Given the description of an element on the screen output the (x, y) to click on. 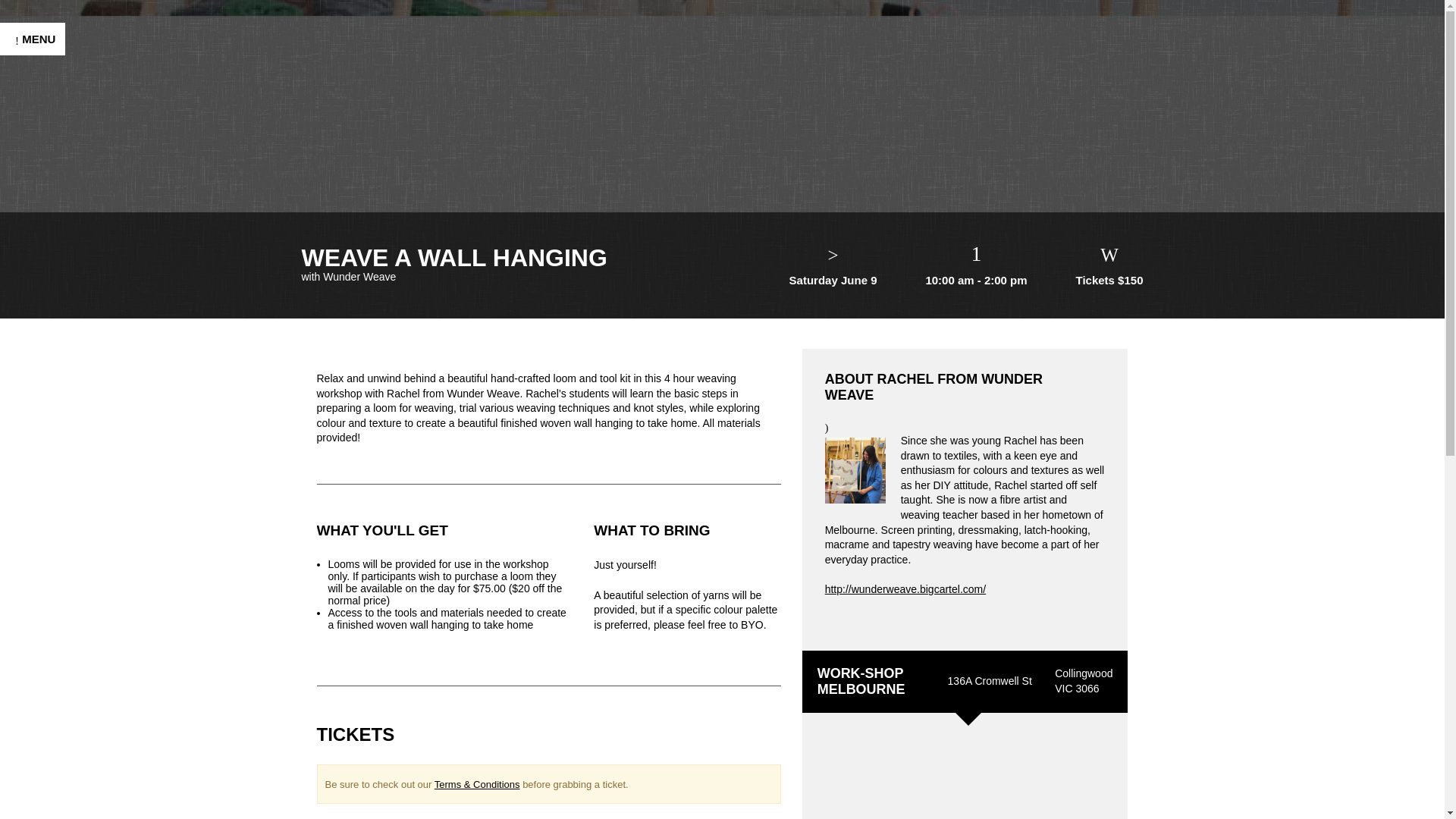
HOME (35, 206)
HOW WE ROLL (63, 533)
Scott Lyttle (116, 799)
GIFT VOUCHERS (71, 440)
ACTIVATIONS (58, 331)
TEACH (37, 471)
MENU (32, 38)
BLOG (33, 564)
HENS ACTIVITIES (72, 299)
VENUE HIRE MELBOURNE (57, 400)
